Given the description of an element on the screen output the (x, y) to click on. 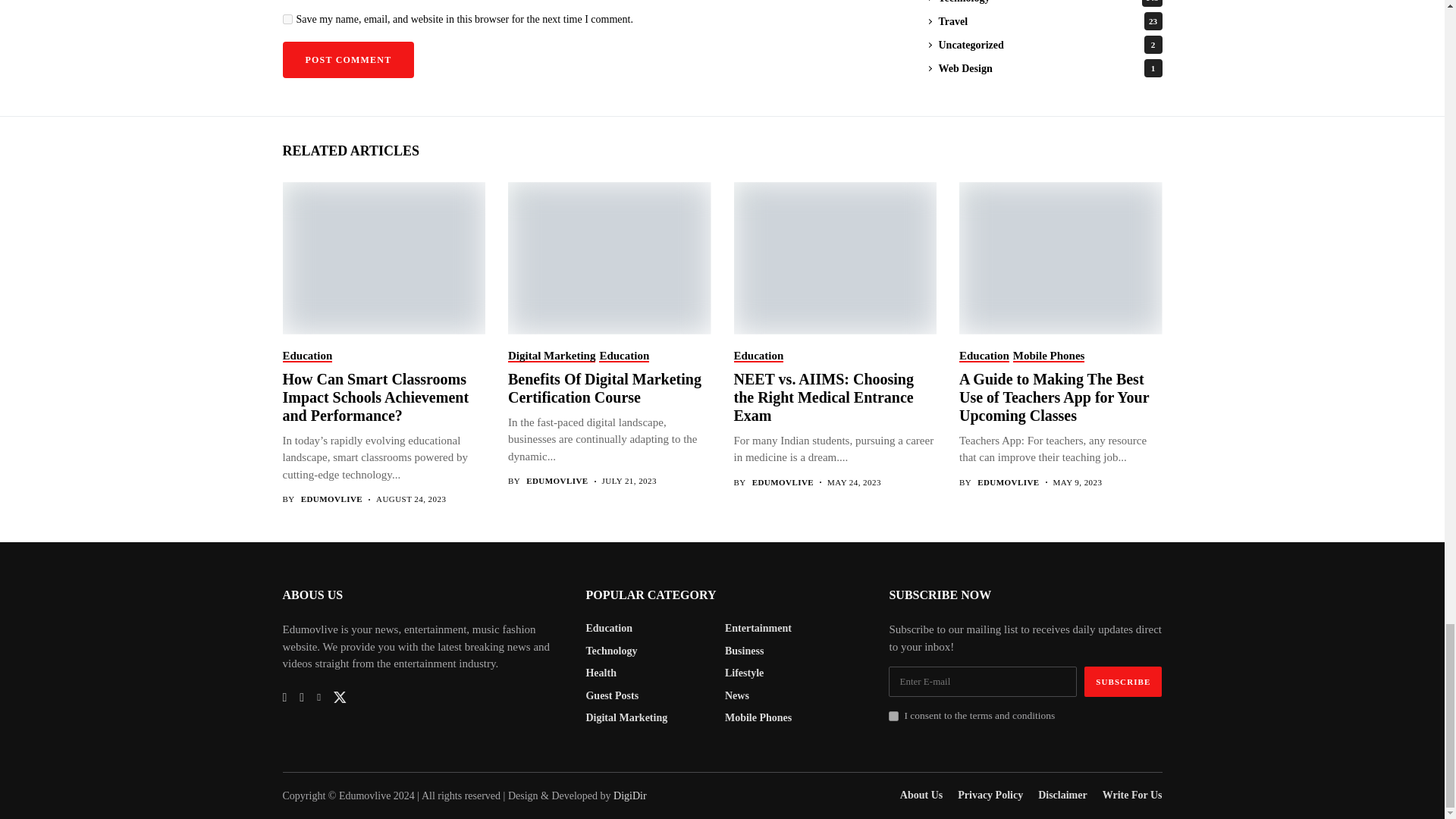
yes (287, 19)
1 (893, 716)
Subscribe (1122, 681)
Posts by edumovlive (782, 482)
Posts by edumovlive (331, 499)
Posts by edumovlive (556, 480)
Post Comment (347, 59)
Posts by edumovlive (1007, 482)
